Given the description of an element on the screen output the (x, y) to click on. 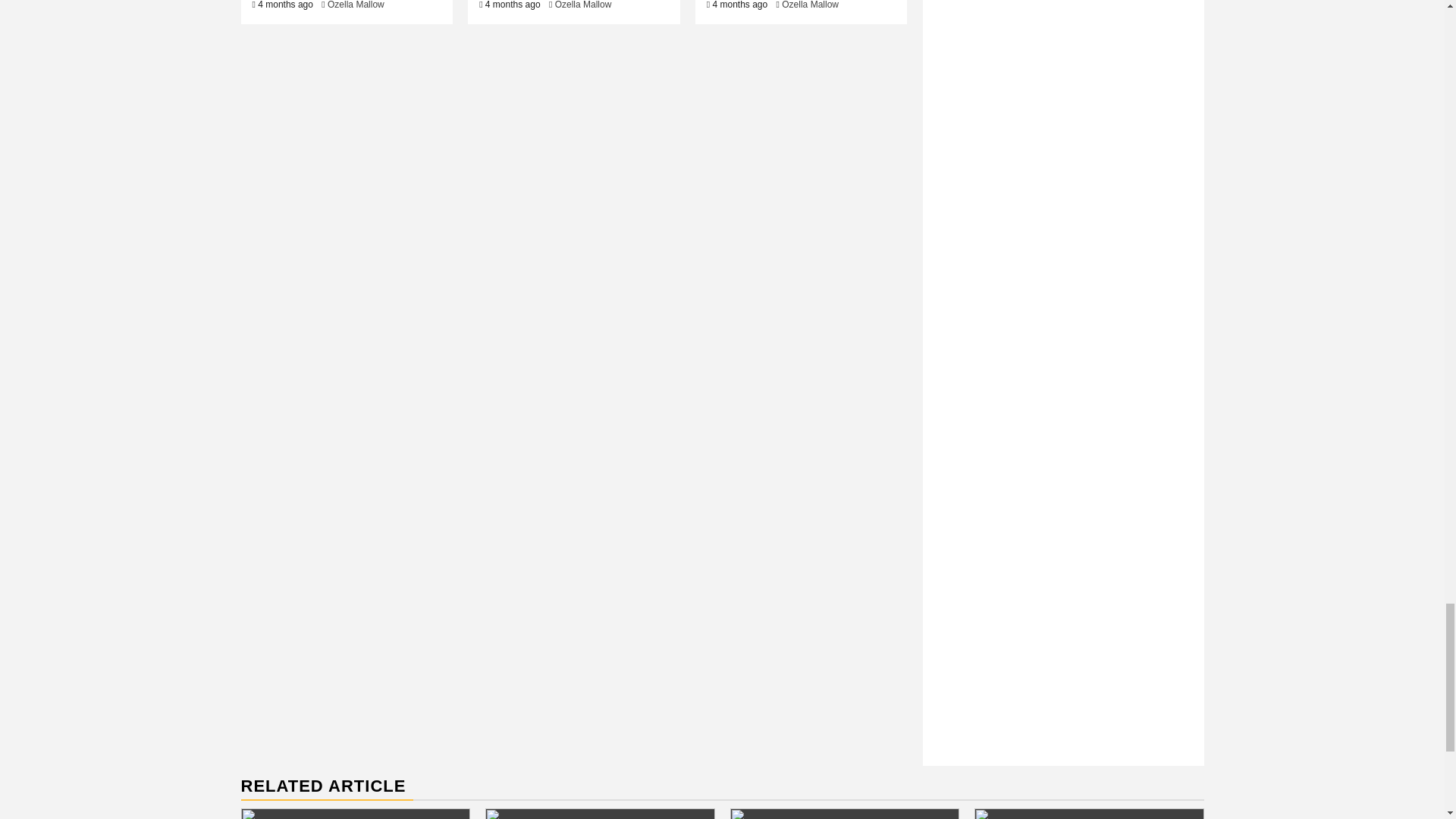
Ozella Mallow (355, 4)
Ozella Mallow (809, 4)
Ozella Mallow (582, 4)
